Given the description of an element on the screen output the (x, y) to click on. 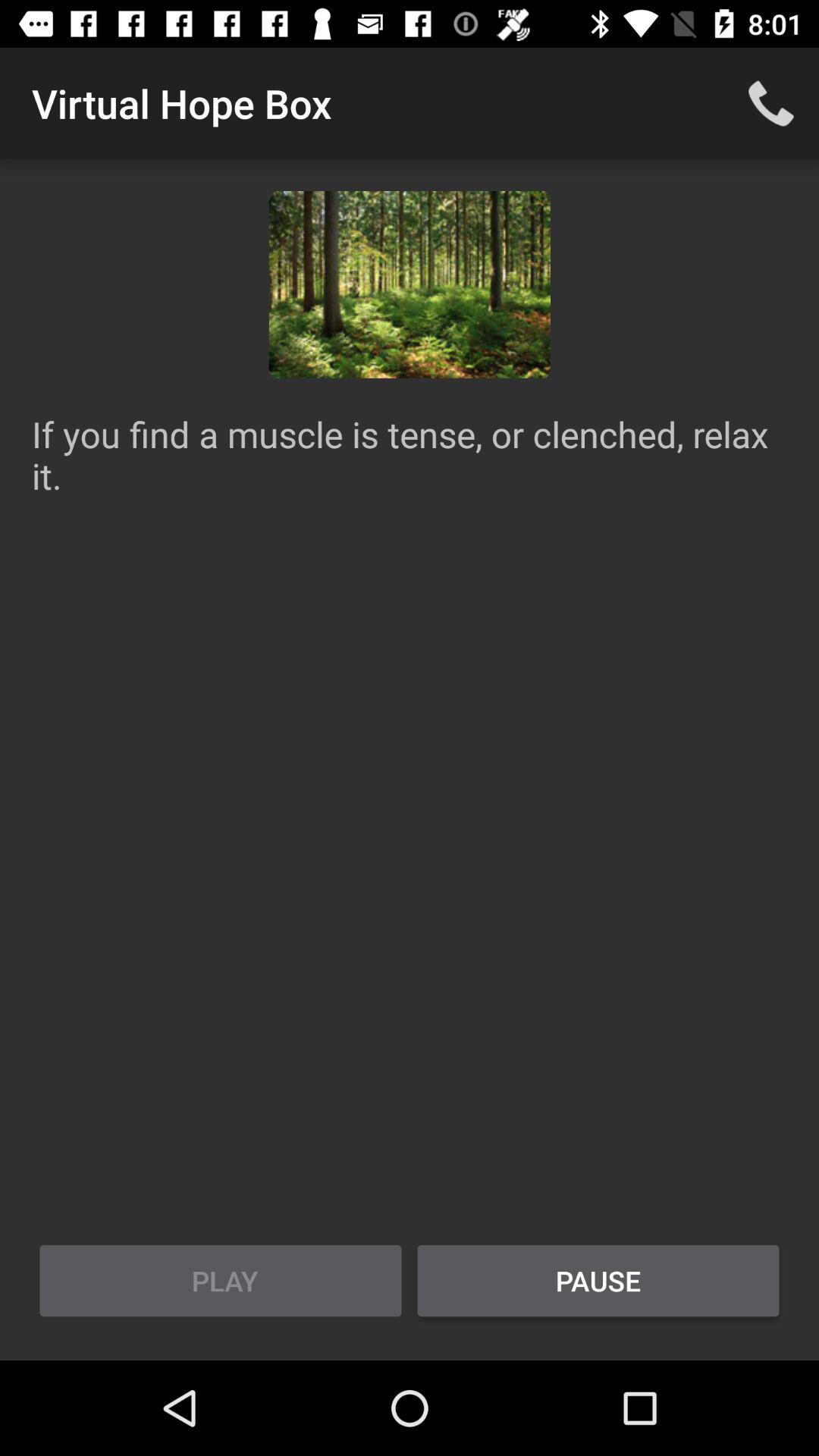
select icon below the if you find (598, 1280)
